Given the description of an element on the screen output the (x, y) to click on. 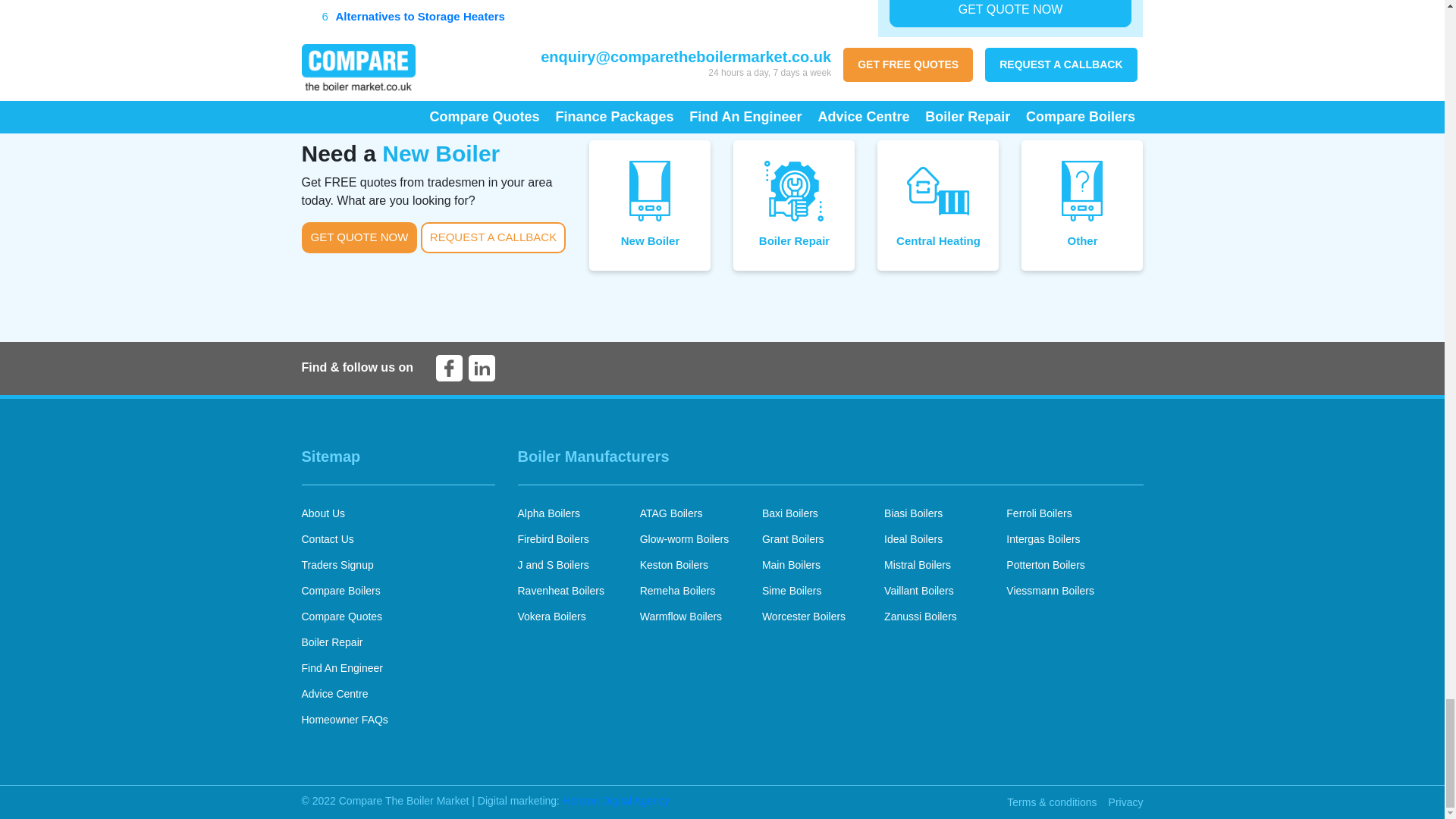
Alternatives to Storage Heaters (418, 15)
REQUEST A CALLBACK (493, 237)
Boiler Repair (794, 205)
Alternatives to Storage Heaters (418, 15)
New Boiler (650, 205)
Central Heating (938, 205)
GET QUOTE NOW (359, 237)
